Given the description of an element on the screen output the (x, y) to click on. 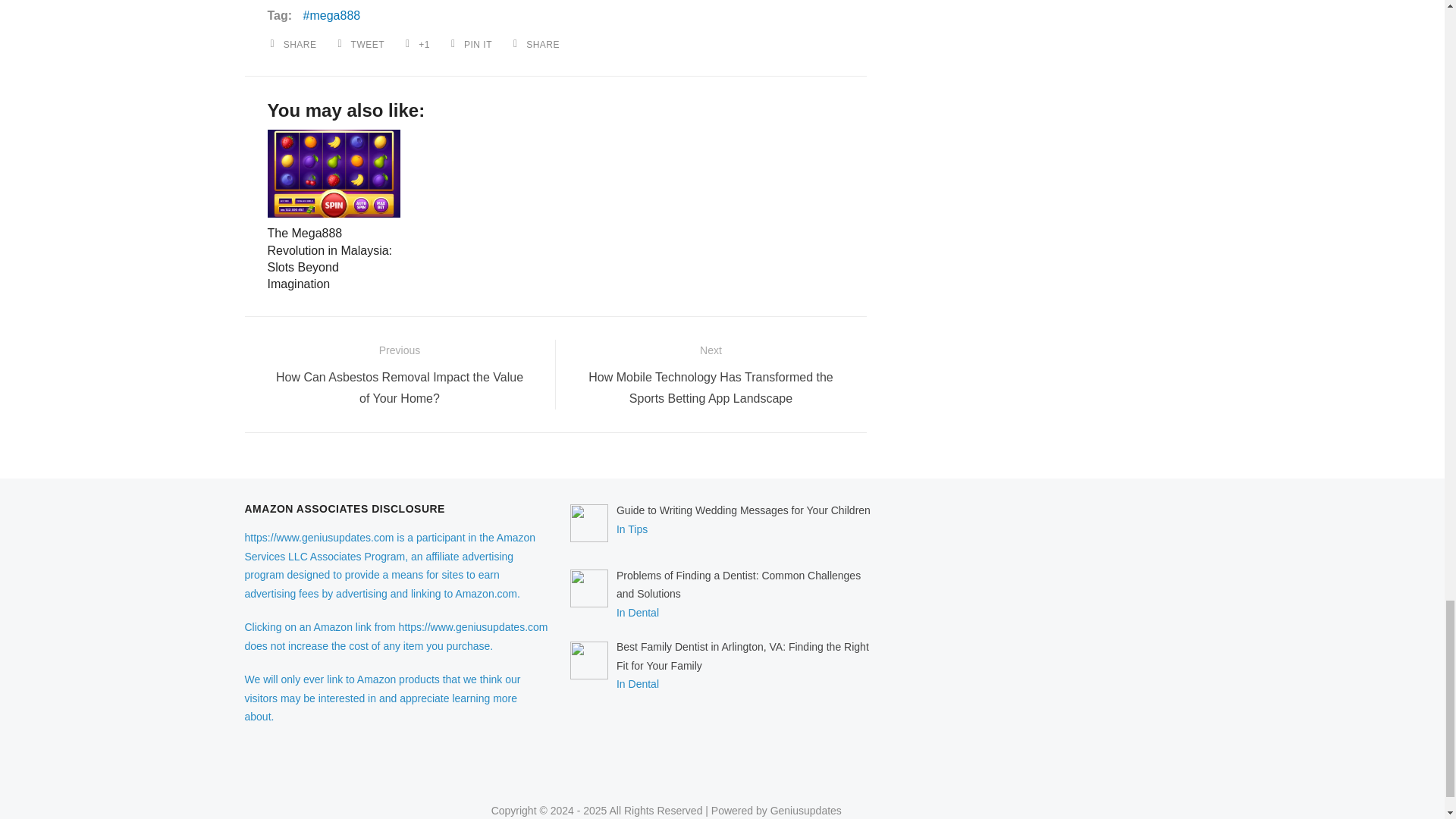
Share on LinkedIn (538, 42)
Share on Twitter (362, 42)
Share on Pinterest (472, 42)
Share on Facebook (293, 42)
